Given the description of an element on the screen output the (x, y) to click on. 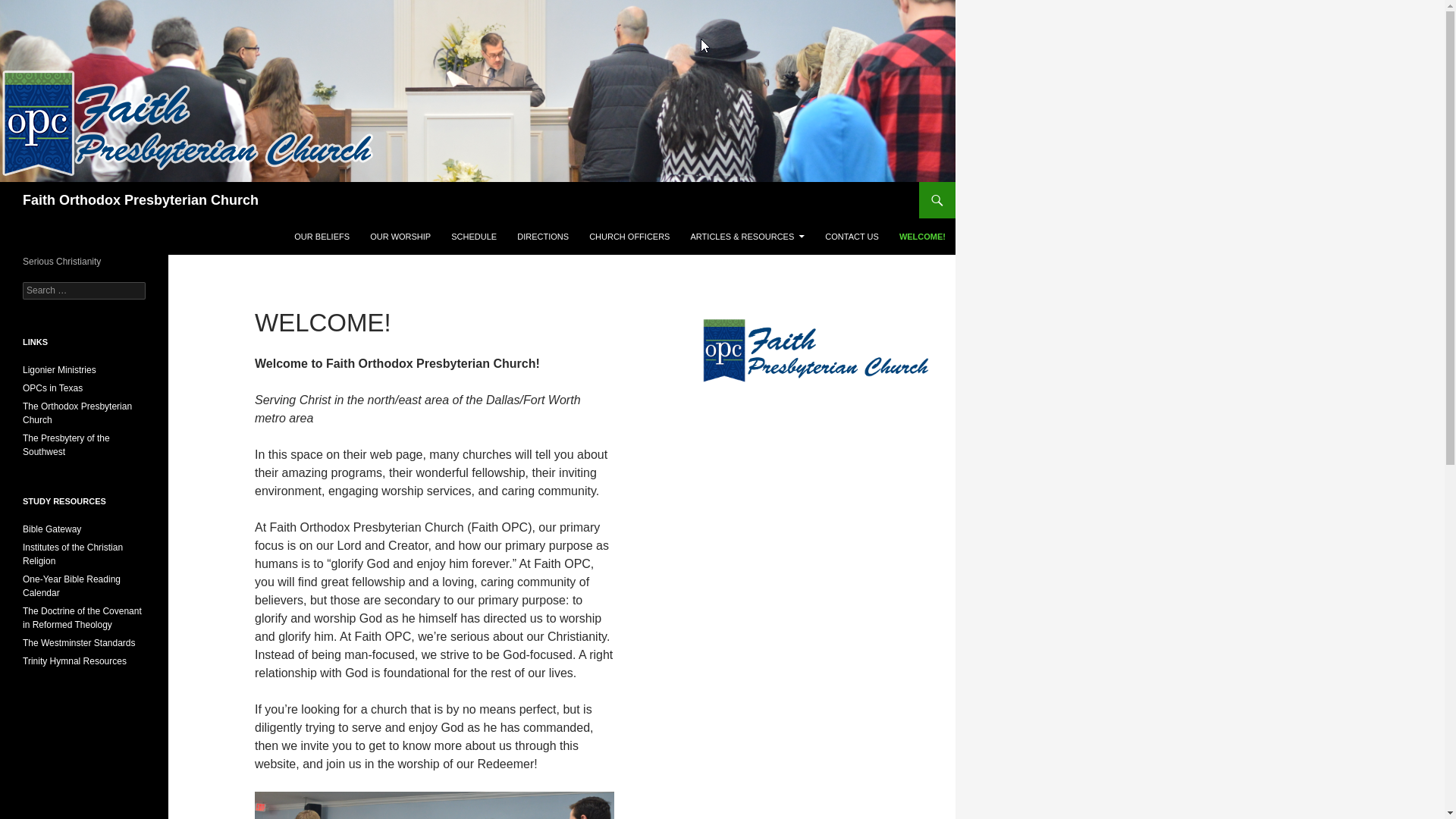
OUR WORSHIP (400, 236)
CHURCH OFFICERS (628, 236)
The Orthodox Presbyterian Church (77, 413)
DIRECTIONS (543, 236)
by John Calvin (72, 554)
Ligonier Ministries (59, 369)
Search (30, 8)
The denomination to which Faith OPC belongs (77, 413)
Institutes of the Christian Religion (72, 554)
WELCOME! (922, 236)
The Westminster Standards (79, 643)
Search for: (84, 290)
by Geerhardus Vos (82, 617)
The Presbytery of the Southwest (66, 445)
